Given the description of an element on the screen output the (x, y) to click on. 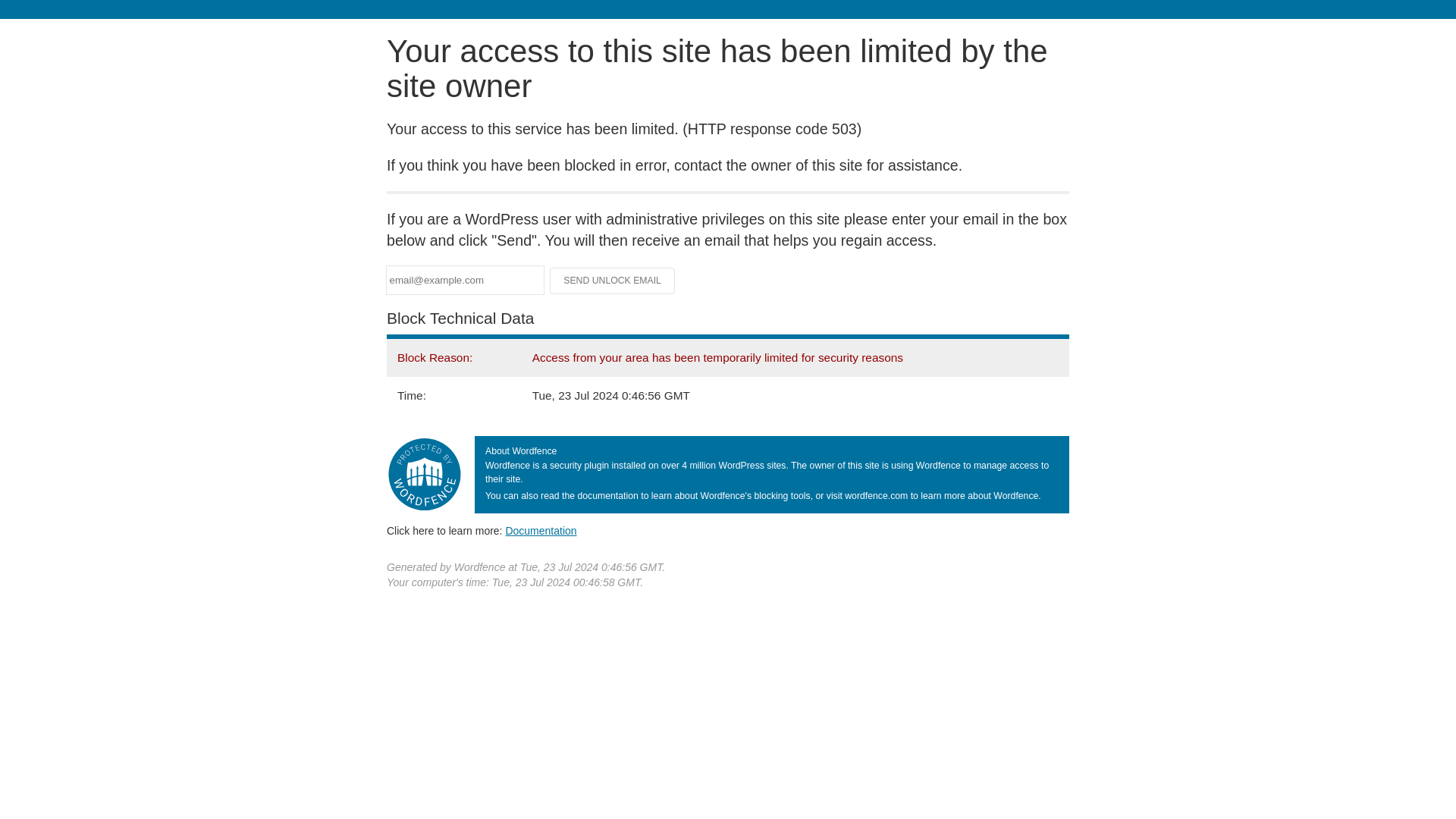
Send Unlock Email (612, 280)
Send Unlock Email (612, 280)
